Given the description of an element on the screen output the (x, y) to click on. 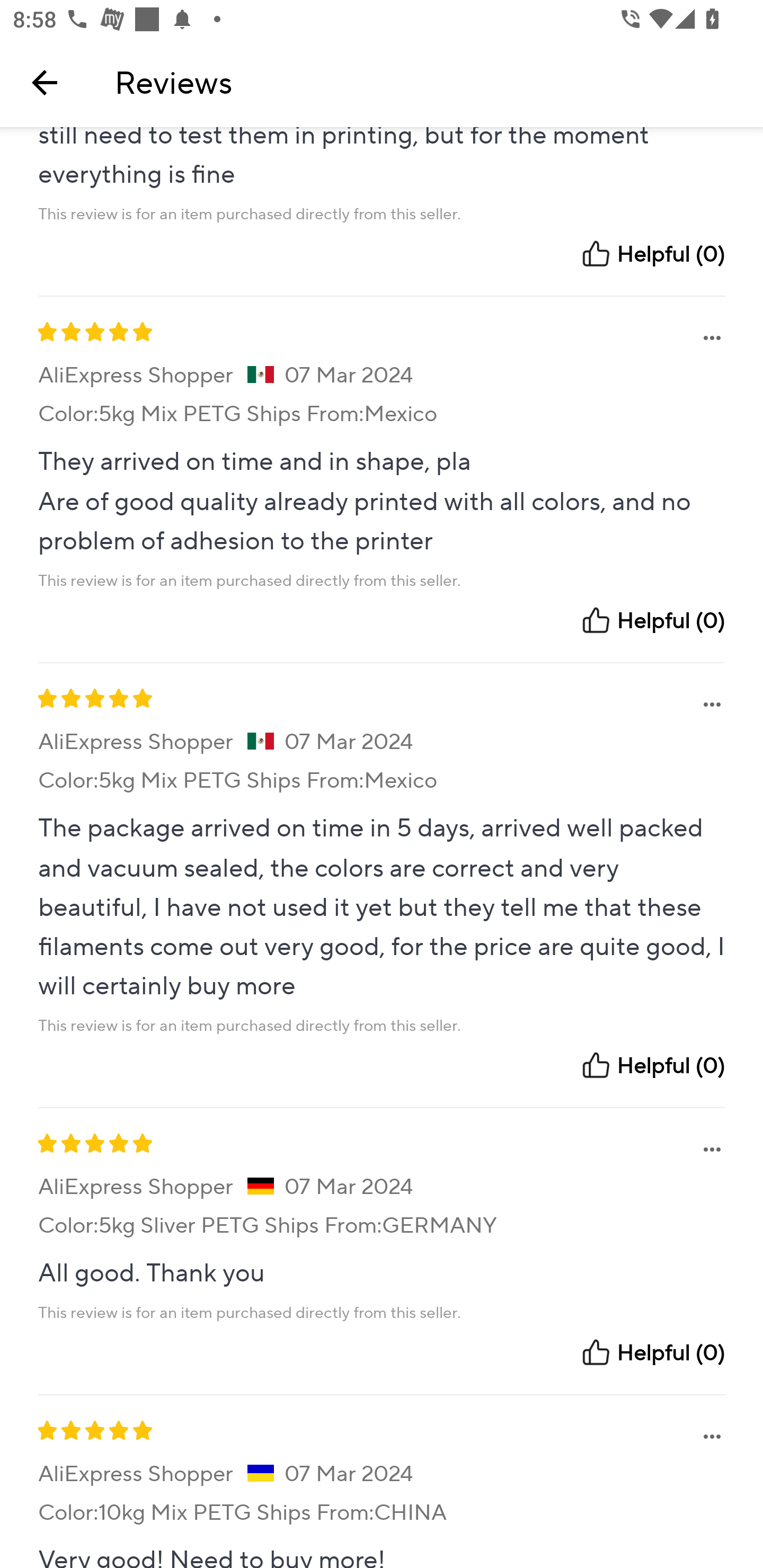
Navigate up (44, 82)
Helpful (0) (651, 253)
Helpful (0) (651, 619)
Helpful (0) (651, 1064)
Helpful (0) (651, 1351)
